Given the description of an element on the screen output the (x, y) to click on. 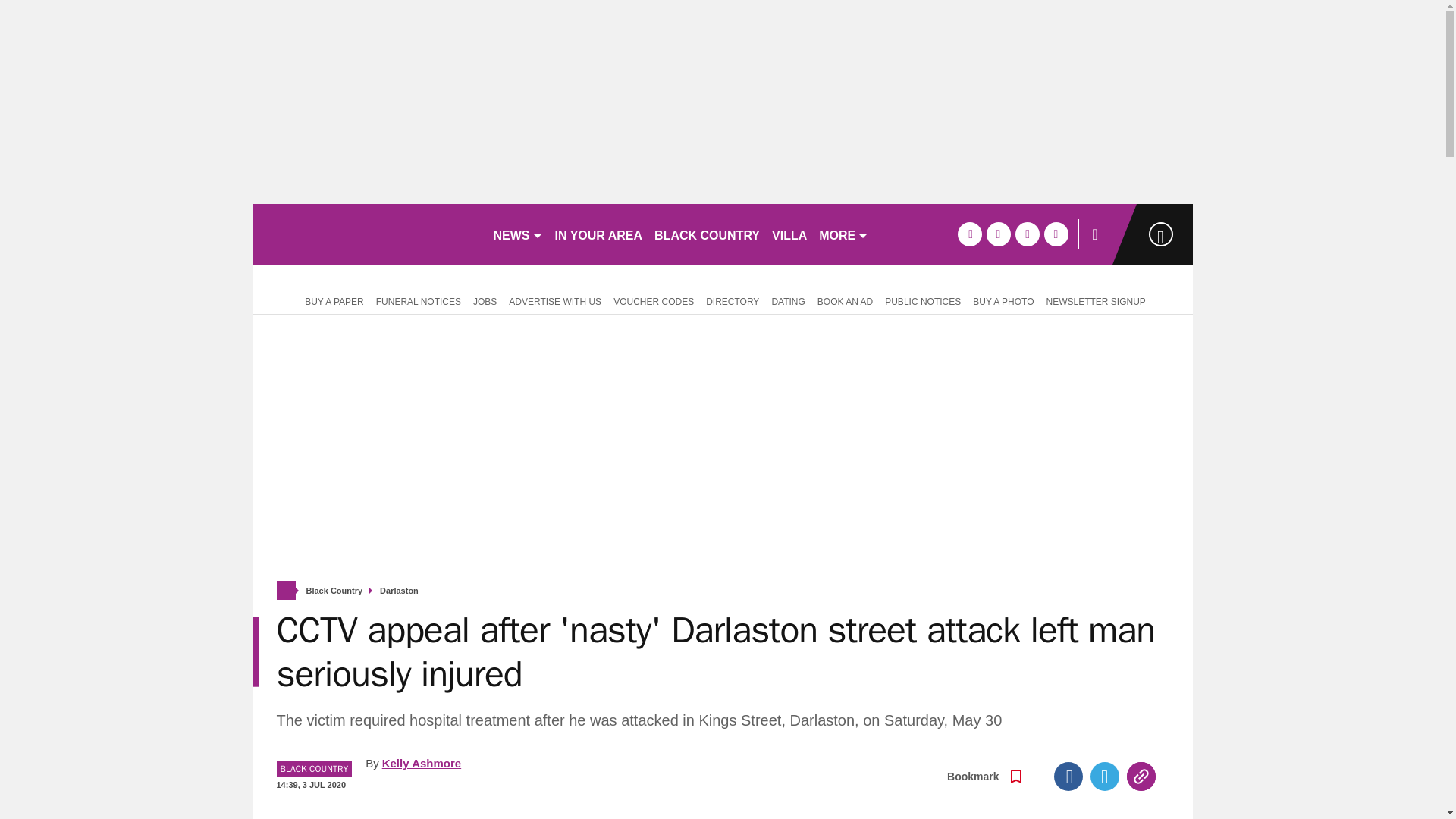
facebook (968, 233)
birminghammail (365, 233)
NEWS (517, 233)
Twitter (1104, 776)
twitter (997, 233)
BLACK COUNTRY (706, 233)
MORE (843, 233)
IN YOUR AREA (598, 233)
Facebook (1068, 776)
tiktok (1026, 233)
